Given the description of an element on the screen output the (x, y) to click on. 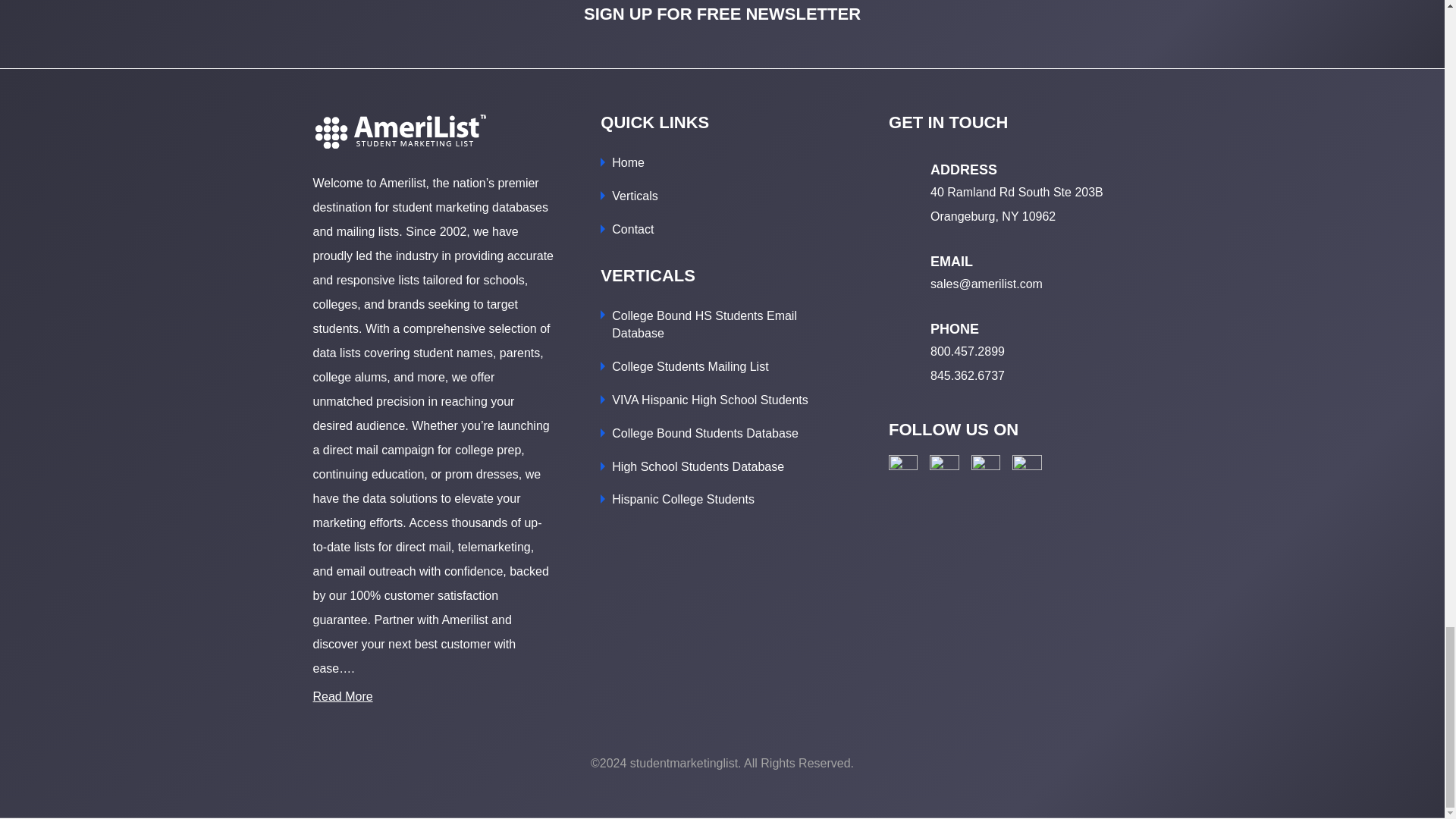
Verticals (634, 195)
College Students Mailing List (689, 366)
800.457.2899 (967, 350)
VIVA Hispanic High School Students (709, 399)
facebook (902, 469)
Read More (342, 696)
College Bound Students Database (704, 432)
email (1026, 469)
Student Marketing List (398, 131)
Home (628, 162)
Contact (632, 228)
linkedin (985, 469)
Hispanic College Students (682, 499)
High School Students Database (697, 466)
College Bound HS Students Email Database (703, 324)
